Given the description of an element on the screen output the (x, y) to click on. 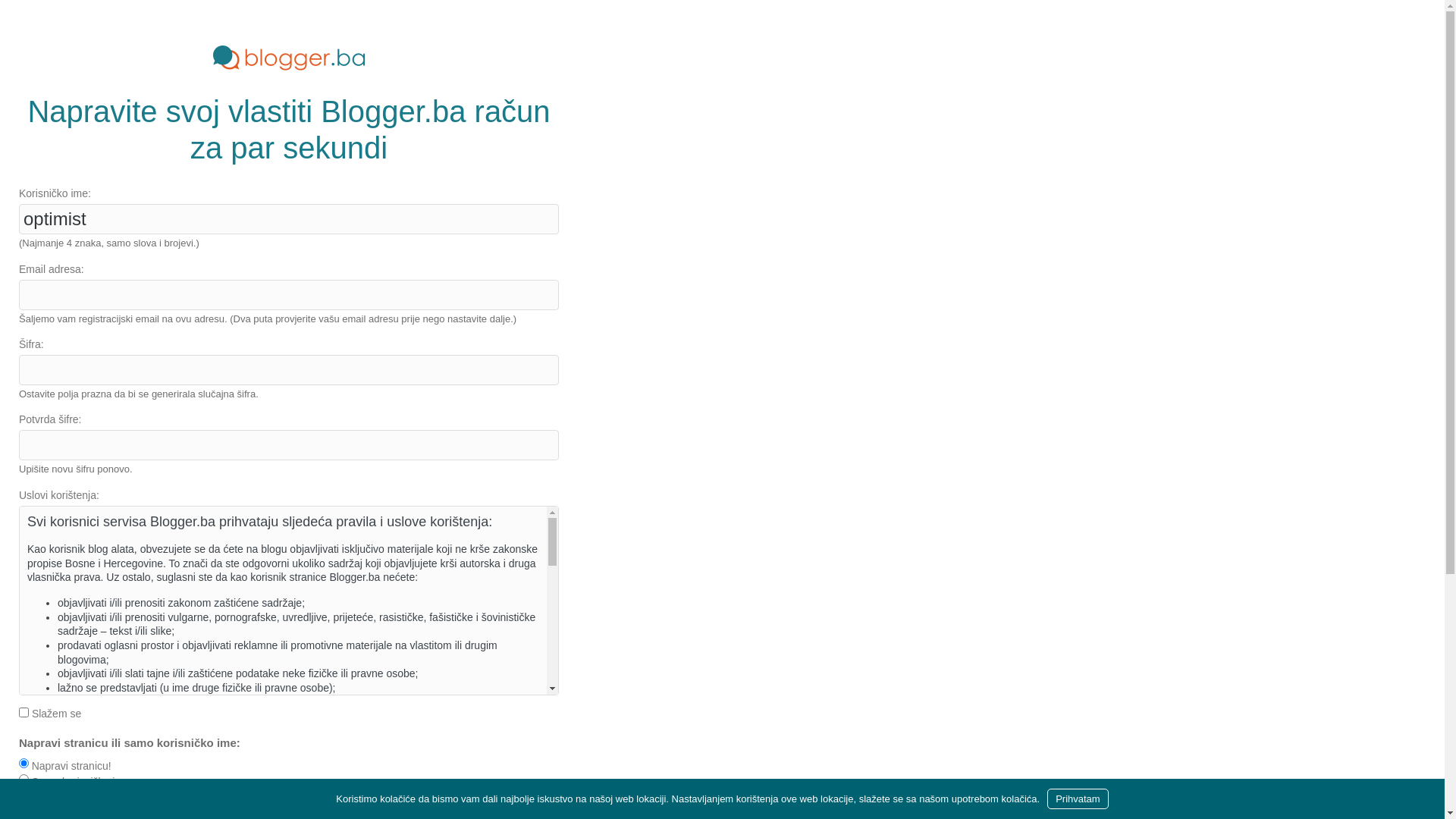
Prihvatam Element type: text (1077, 798)
